Given the description of an element on the screen output the (x, y) to click on. 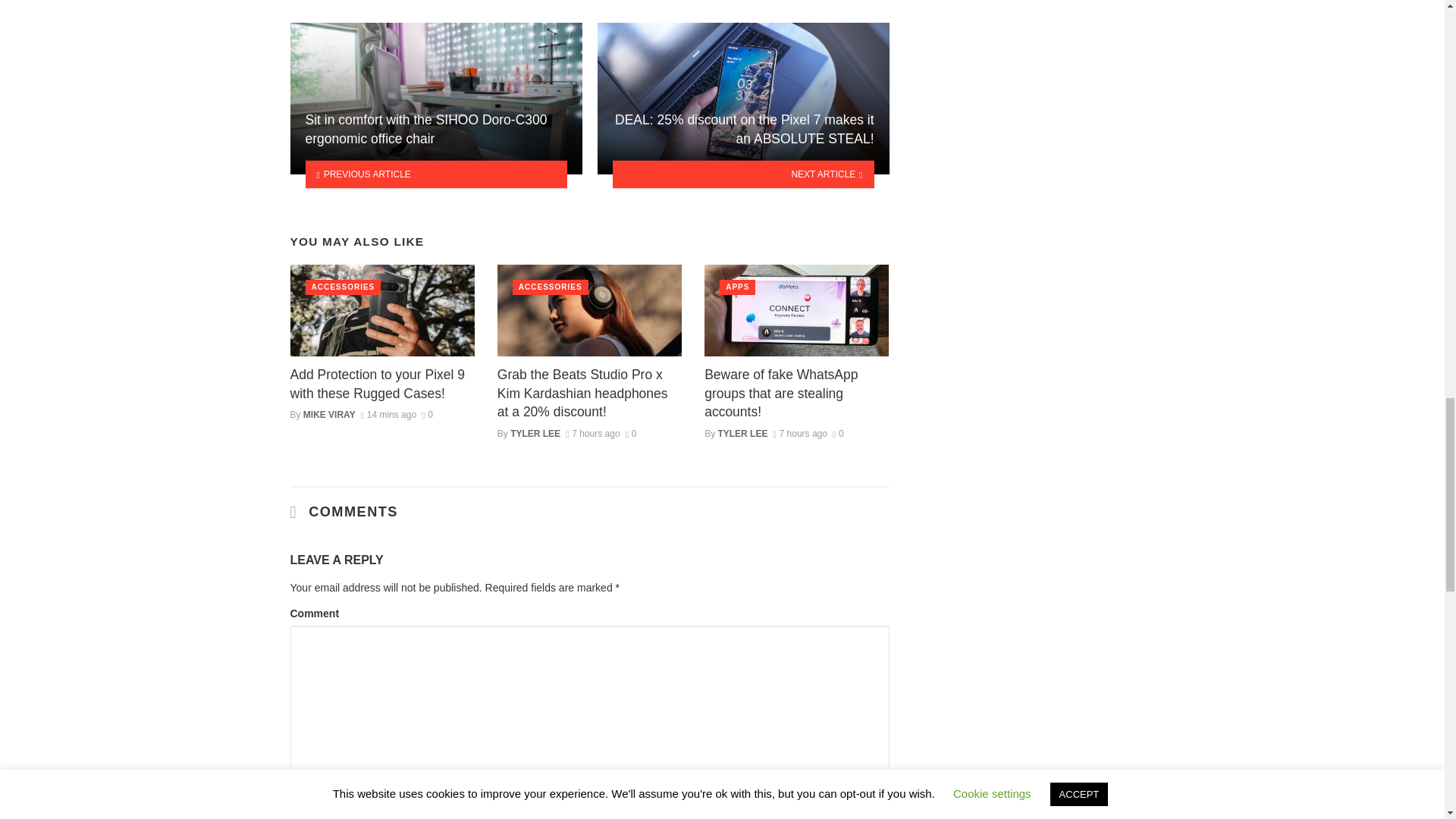
August 16, 2024 at 12:57 am (593, 433)
0 Comments (631, 433)
0 Comments (427, 414)
August 16, 2024 at 12:30 am (800, 433)
August 16, 2024 at 7:39 am (388, 414)
